Given the description of an element on the screen output the (x, y) to click on. 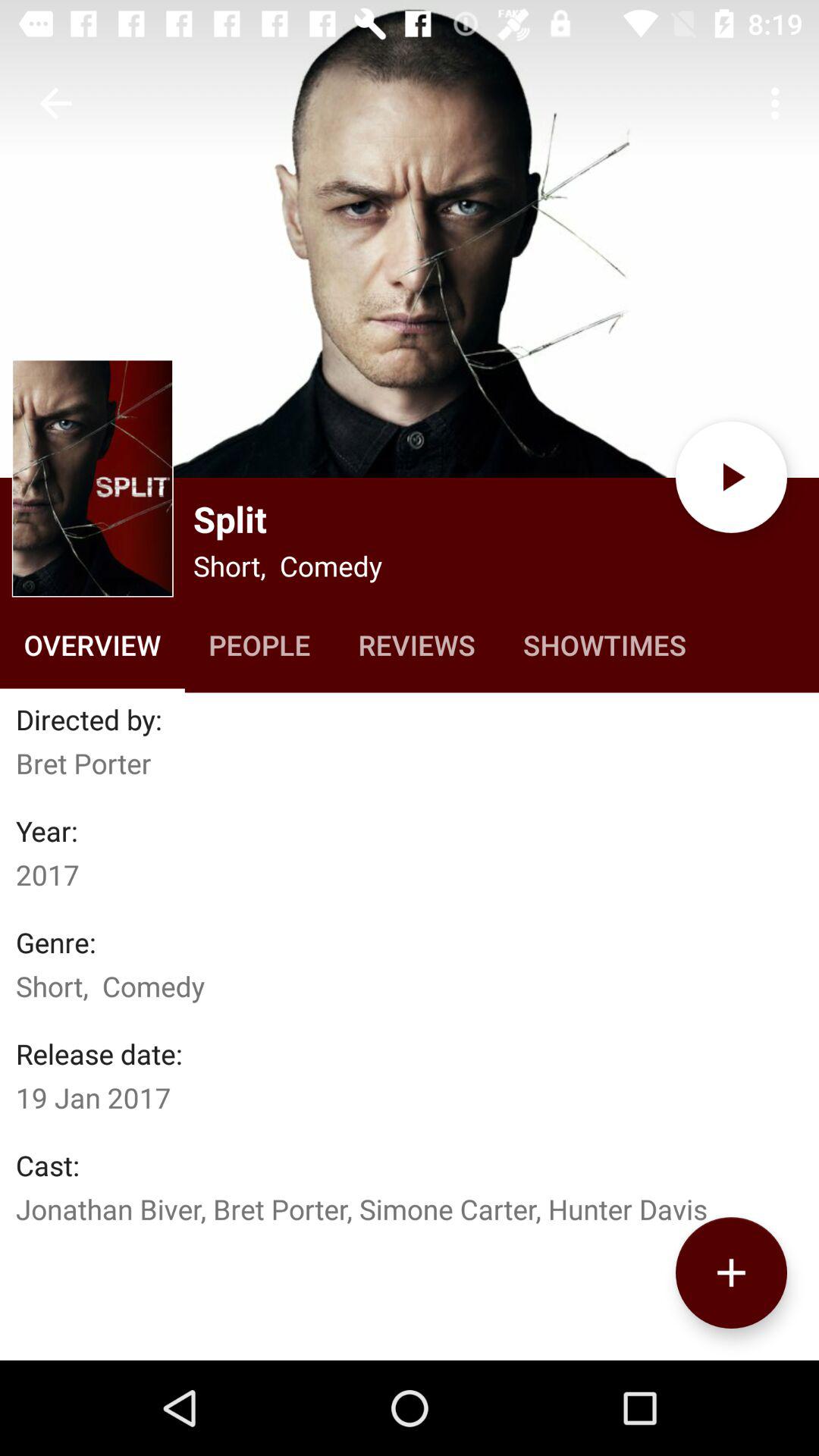
select poster (409, 238)
